Given the description of an element on the screen output the (x, y) to click on. 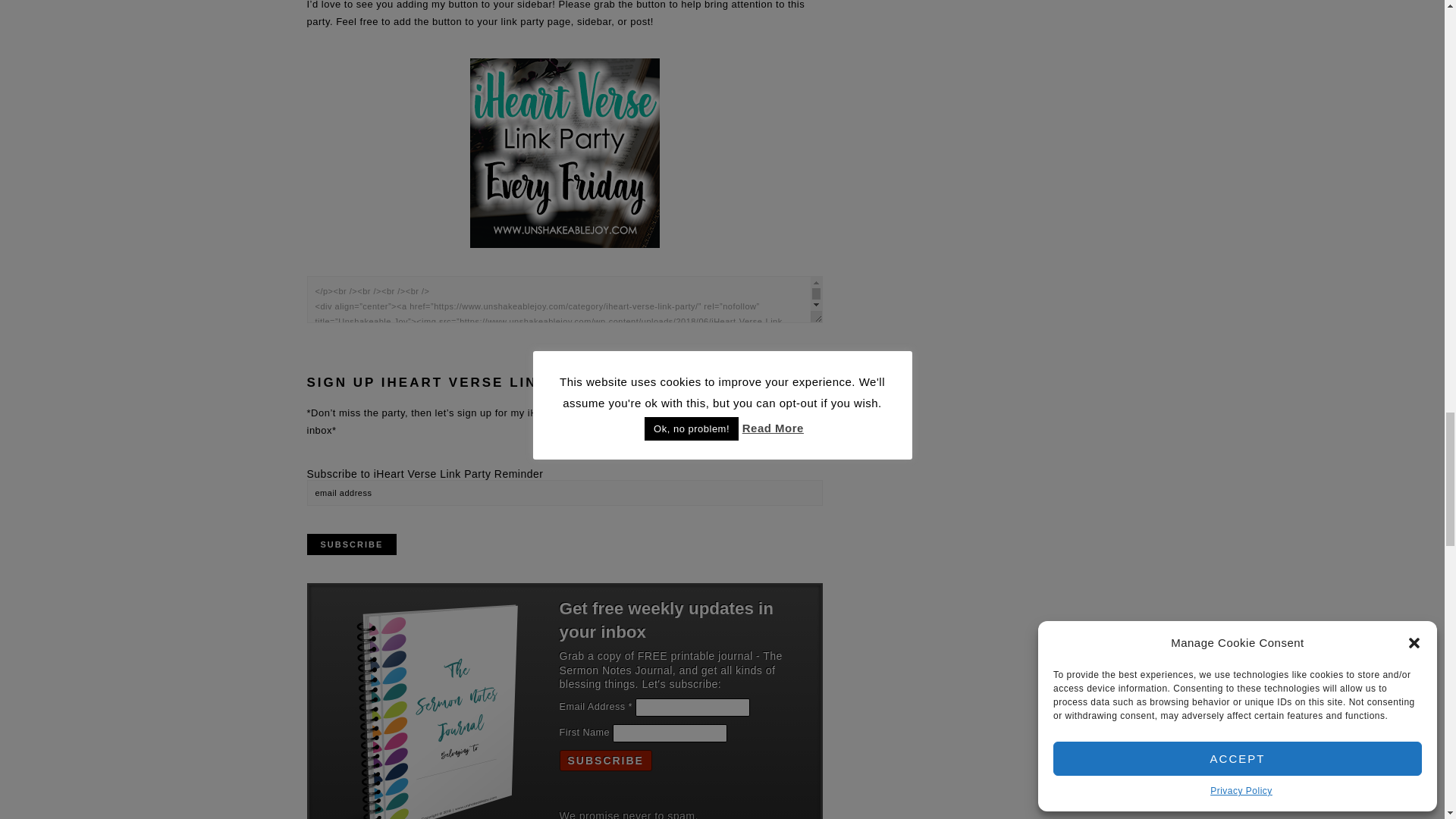
Subscribe (350, 544)
Subscribe (605, 760)
